Given the description of an element on the screen output the (x, y) to click on. 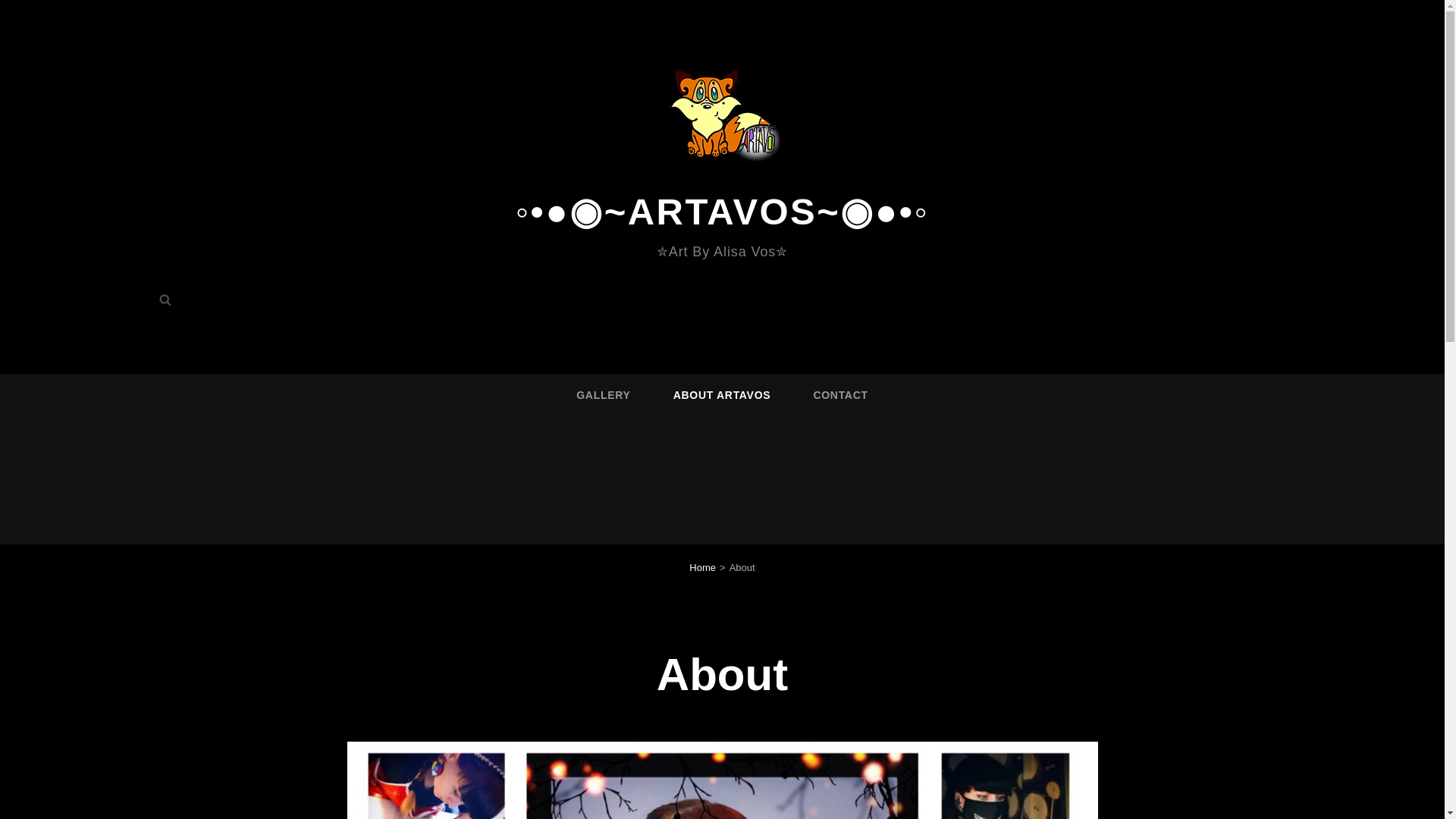
ABOUT ARTAVOS (721, 394)
GALLERY (603, 394)
Home (702, 567)
CONTACT (839, 394)
Search (164, 299)
